Given the description of an element on the screen output the (x, y) to click on. 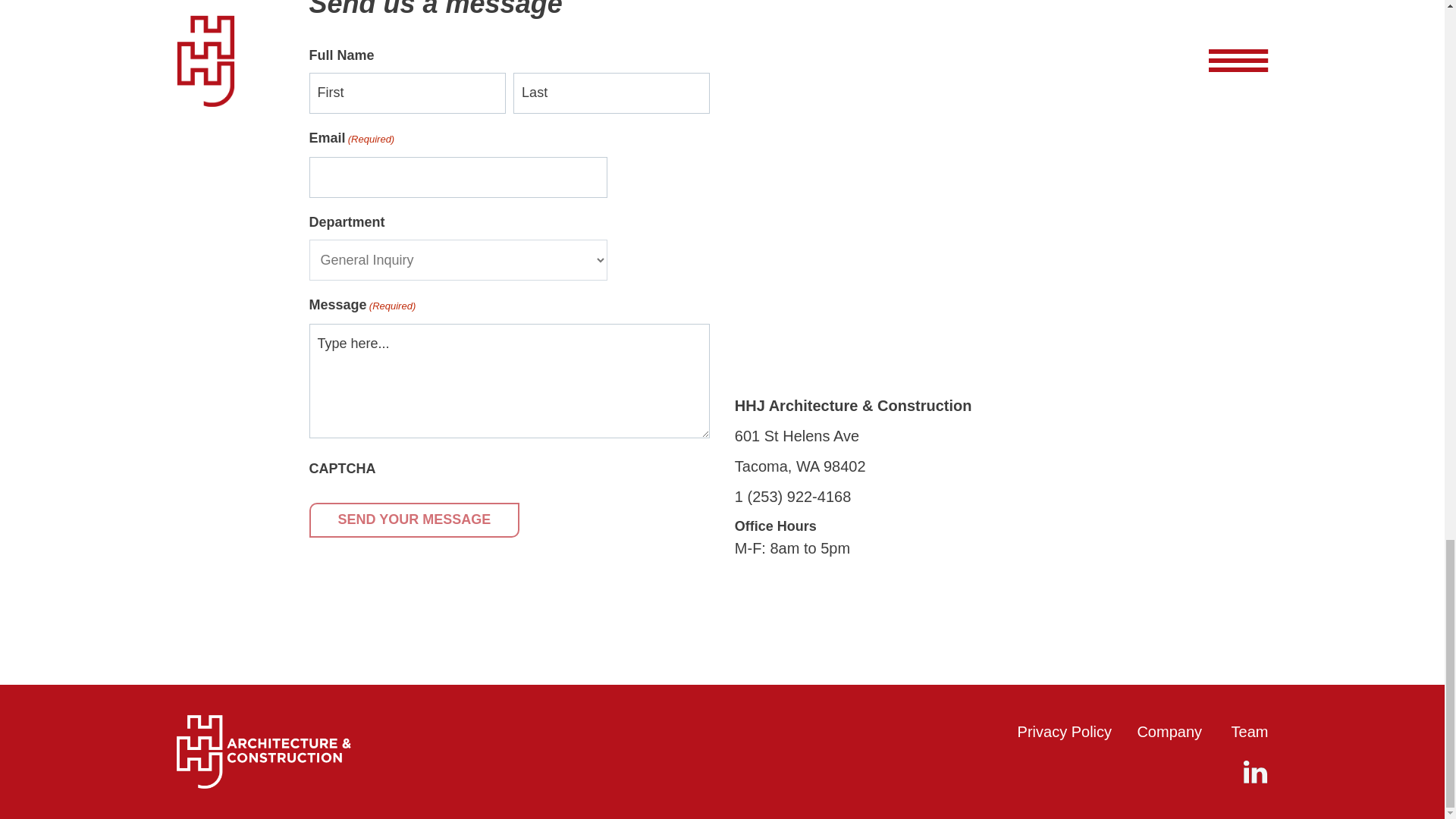
Team (1249, 731)
Send Your Message (413, 520)
Privacy Policy (1064, 731)
HHJ White Logo (263, 751)
Send Your Message (413, 520)
Company (1169, 731)
linkedin (1255, 771)
